Given the description of an element on the screen output the (x, y) to click on. 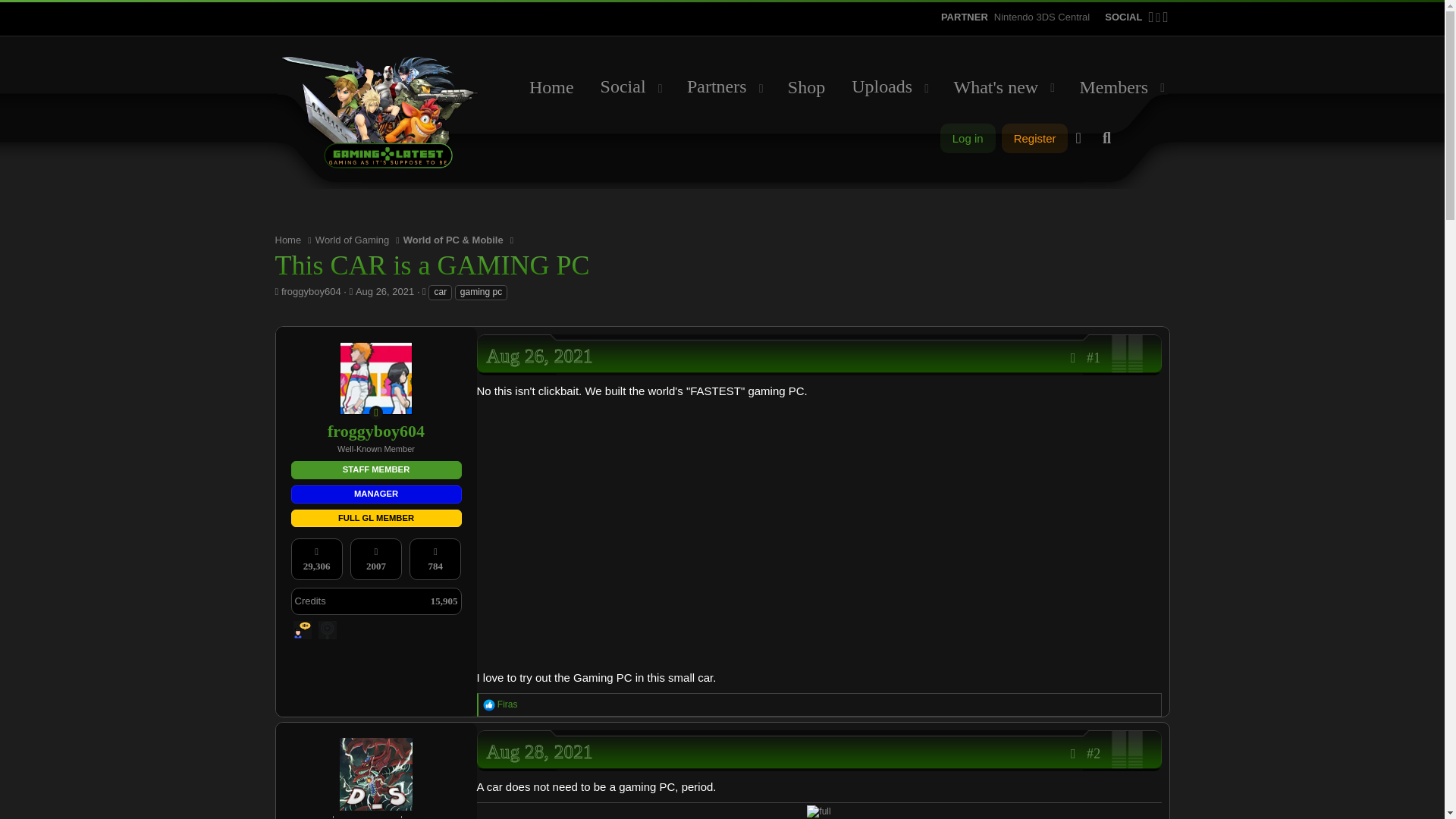
Search (849, 87)
Mature Board Viewing (1106, 137)
Log in (302, 630)
Register (967, 138)
Nintendo 3DS Central (1034, 138)
Aug 28, 2021 at 2:40 AM (1041, 17)
Credits (539, 752)
Unlock full profile styling (849, 87)
